Given the description of an element on the screen output the (x, y) to click on. 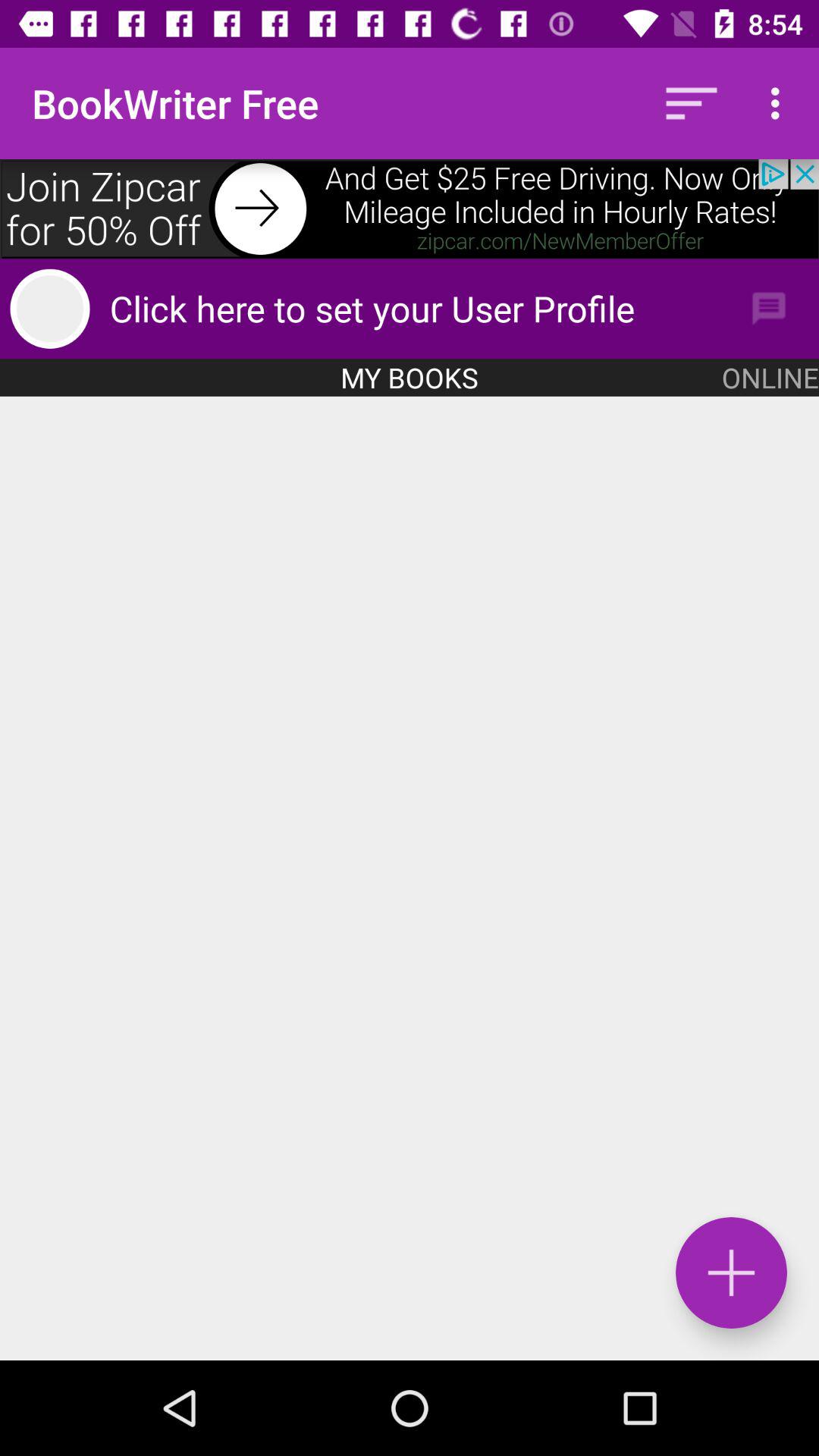
adds join zipca (409, 208)
